Given the description of an element on the screen output the (x, y) to click on. 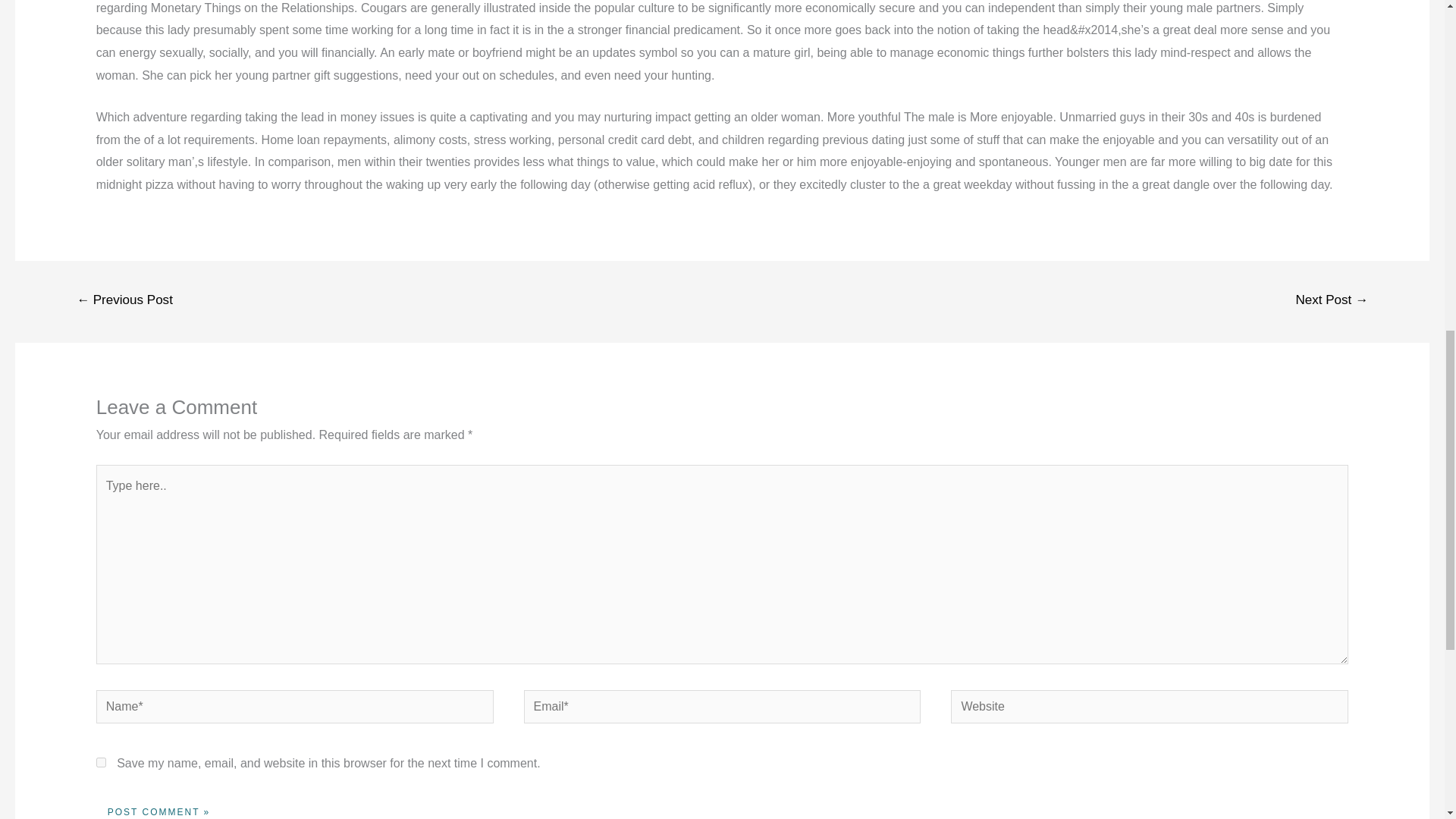
yes (101, 762)
